Given the description of an element on the screen output the (x, y) to click on. 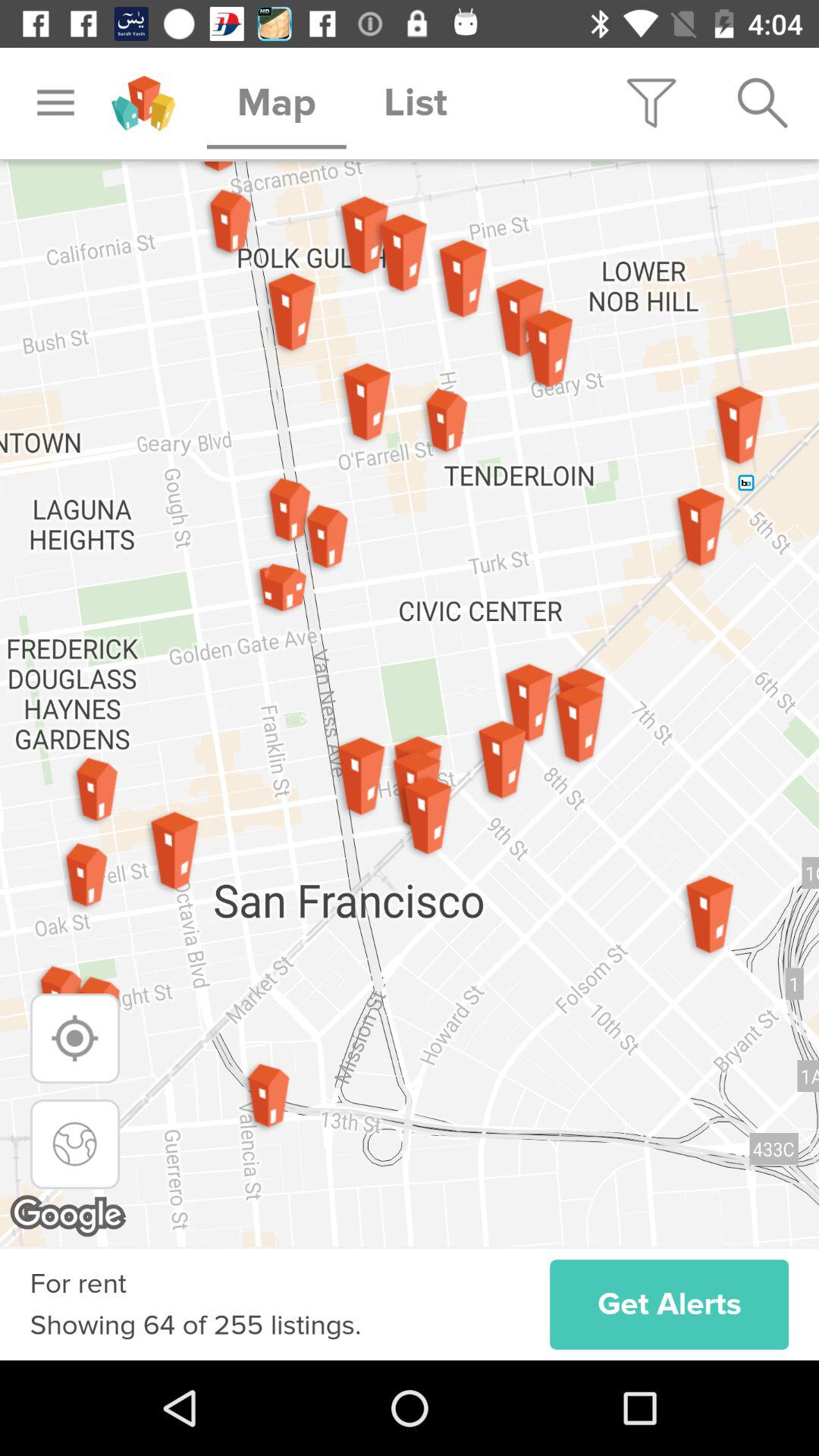
tap the icon above the get alerts icon (409, 703)
